Given the description of an element on the screen output the (x, y) to click on. 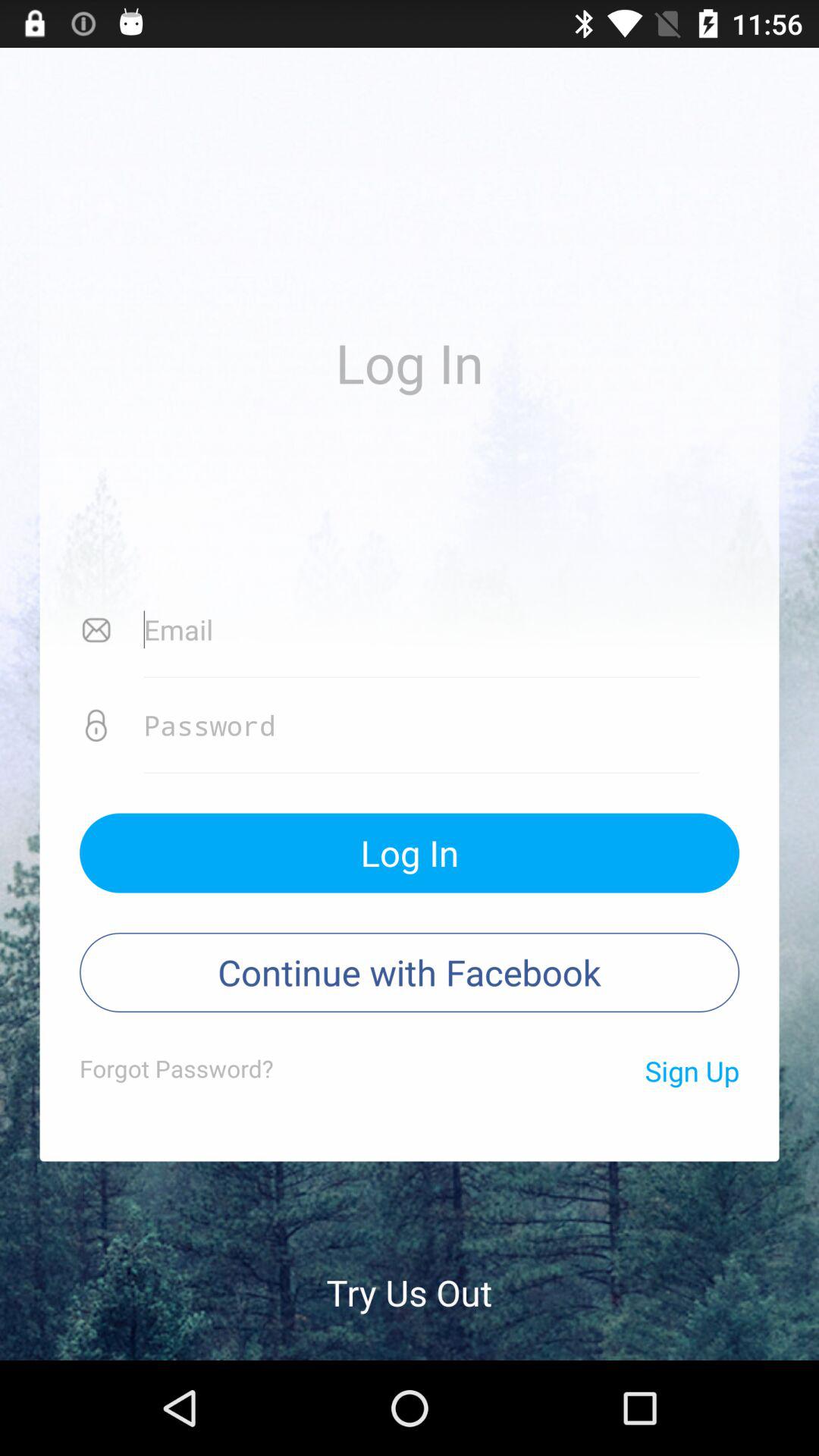
enter your email address (421, 629)
